Given the description of an element on the screen output the (x, y) to click on. 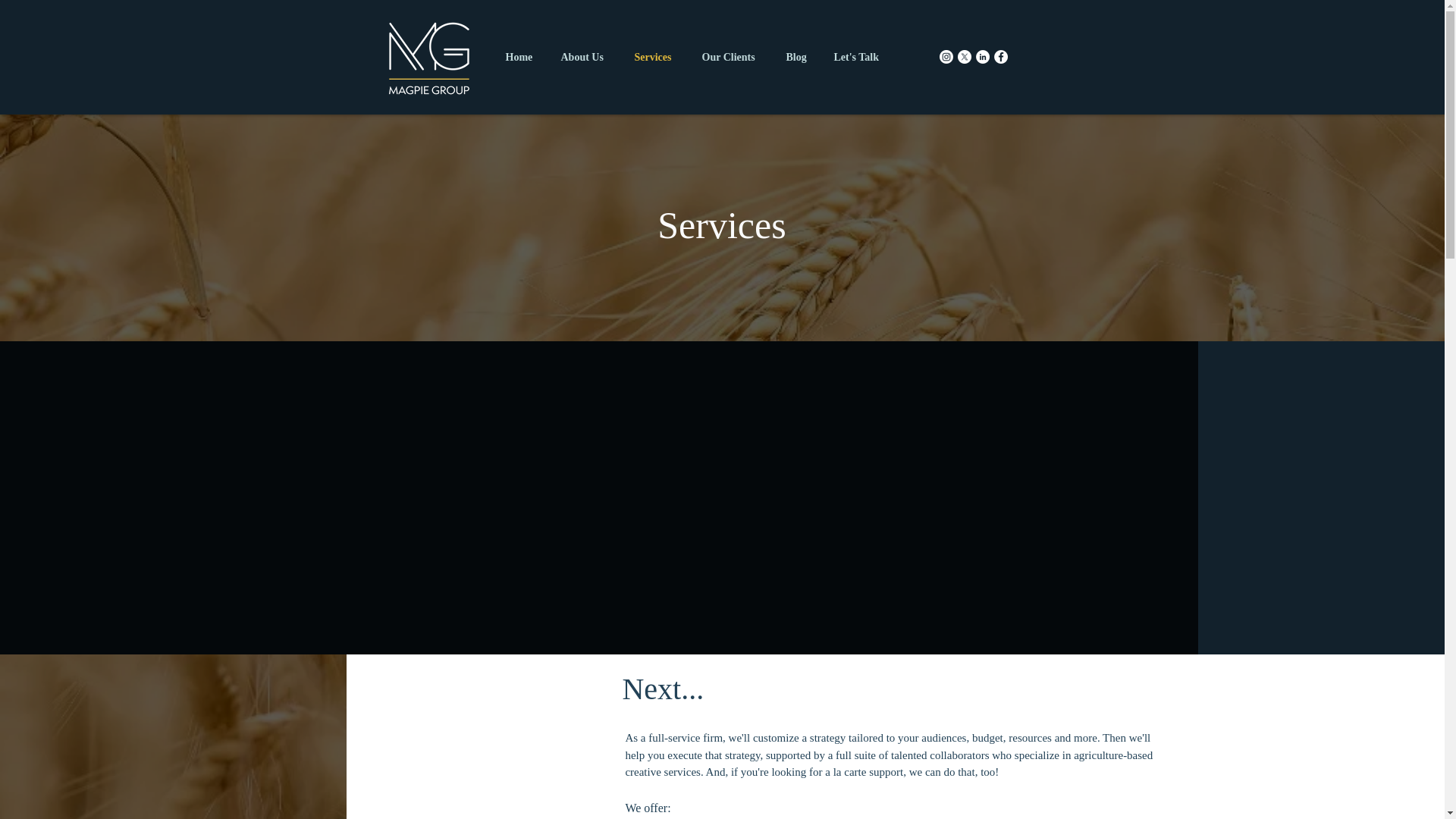
Let's Talk (856, 57)
Home (522, 57)
About Us (585, 57)
Overlapping M and G letters above the words Magpe Group (428, 57)
Our Clients (732, 57)
Blog (798, 57)
Services (656, 57)
